Given the description of an element on the screen output the (x, y) to click on. 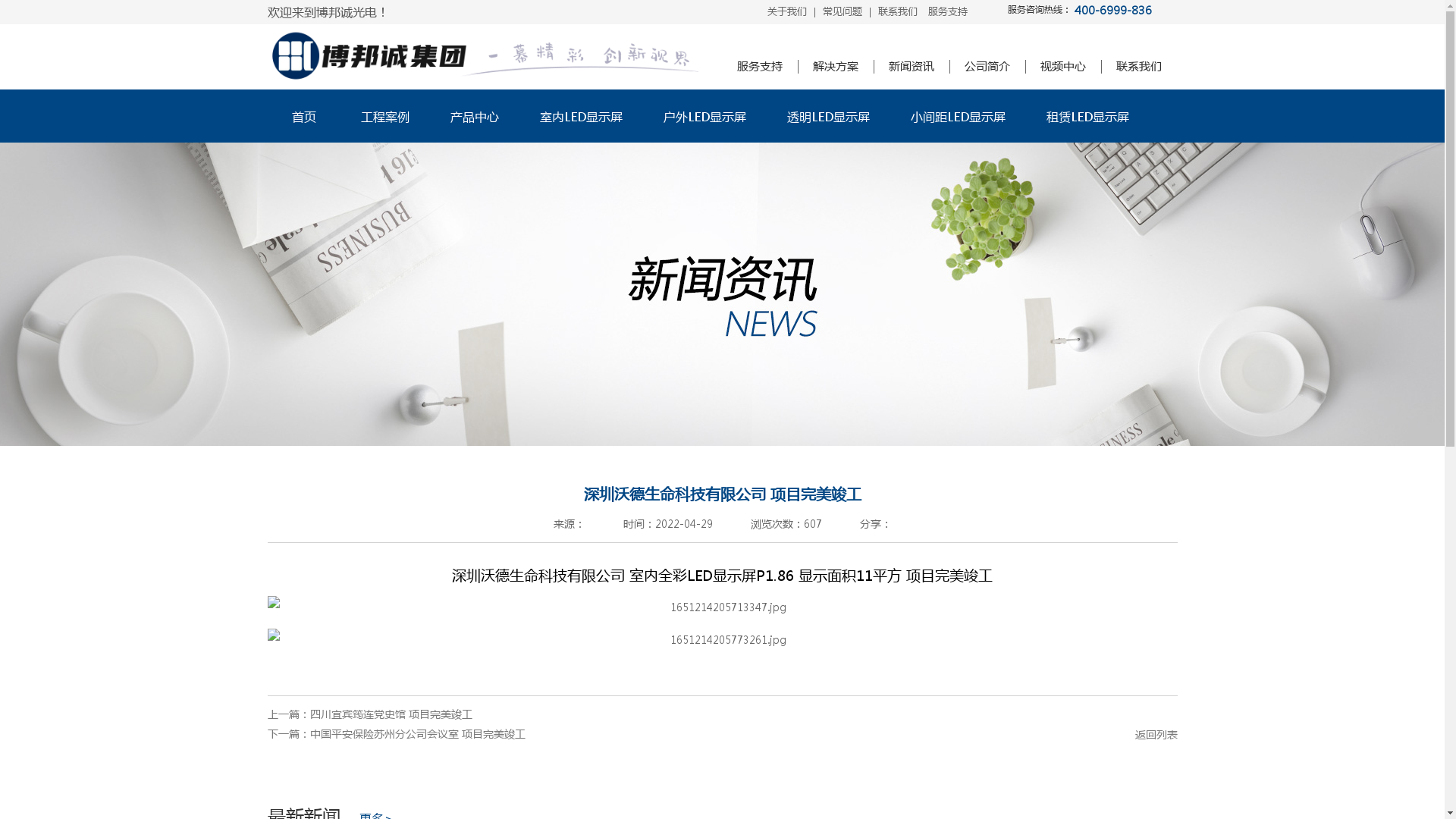
1652404829435409.jpg Element type: hover (721, 606)
1652404833573119.jpg Element type: hover (721, 638)
